Given the description of an element on the screen output the (x, y) to click on. 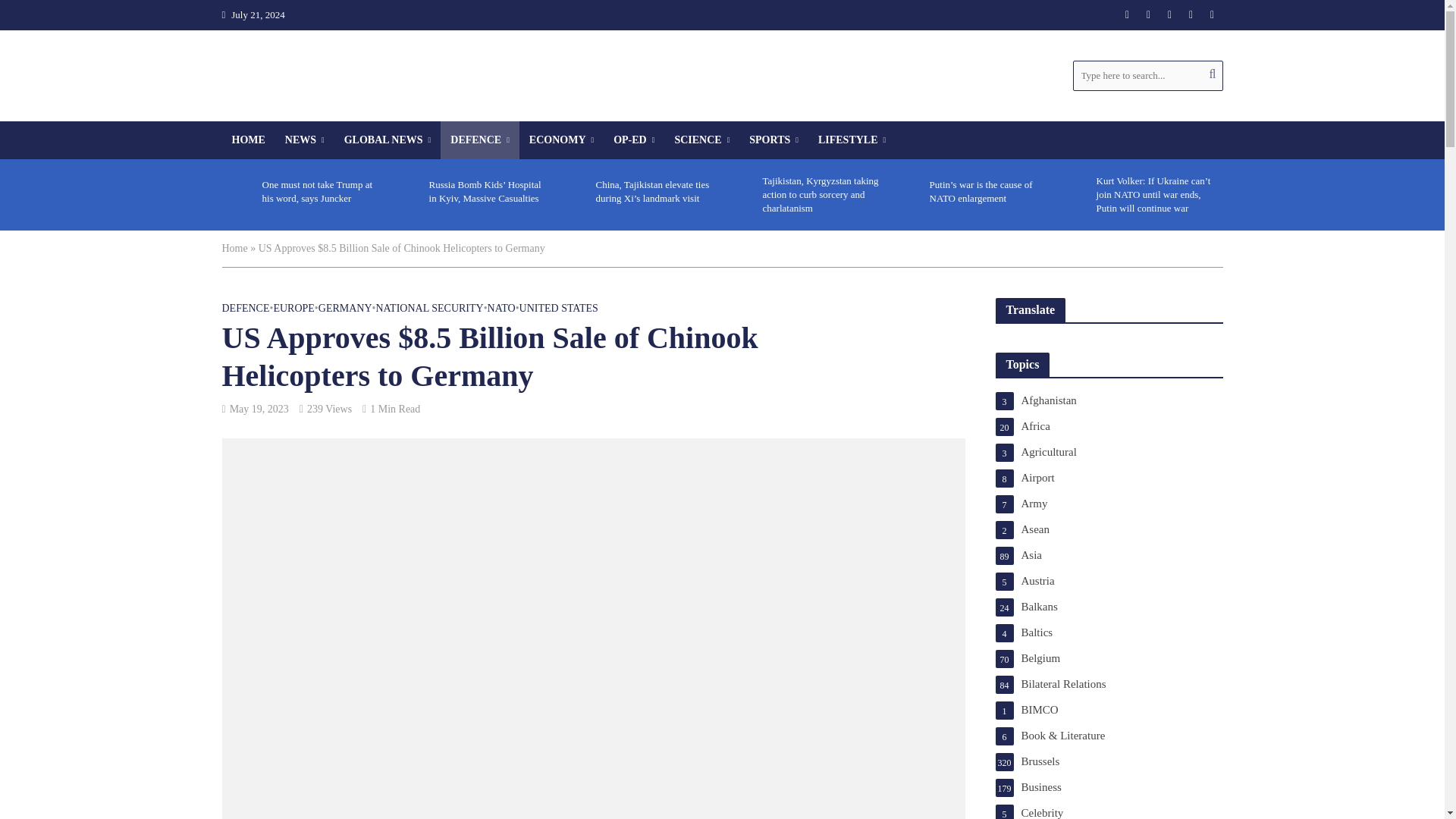
HOME (248, 139)
GLOBAL NEWS (387, 139)
NEWS (304, 139)
